Given the description of an element on the screen output the (x, y) to click on. 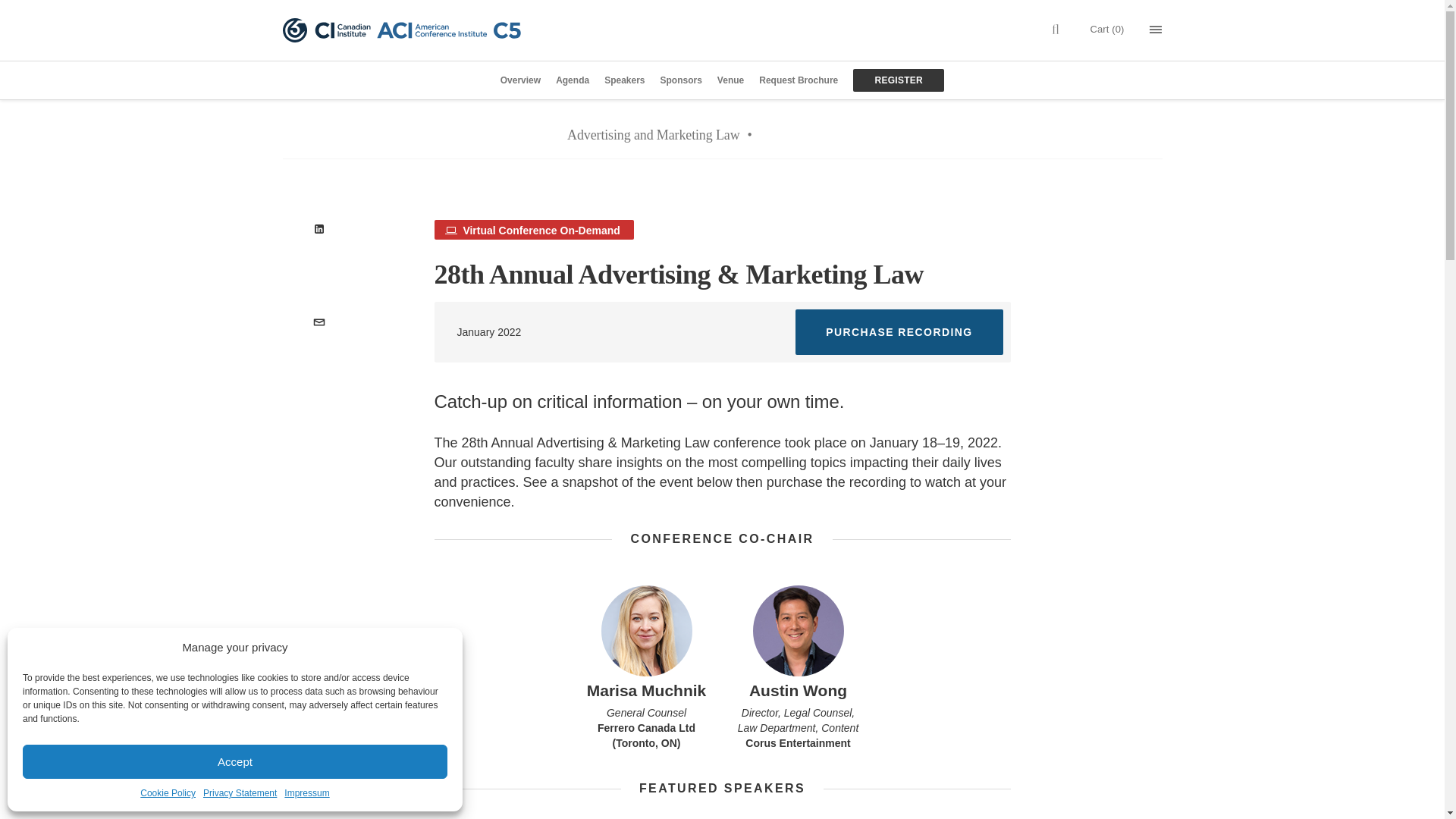
Impressum (306, 793)
Privacy Statement (239, 793)
Accept (234, 761)
Cookie Policy (167, 793)
Toggle navigation (1155, 29)
